Given the description of an element on the screen output the (x, y) to click on. 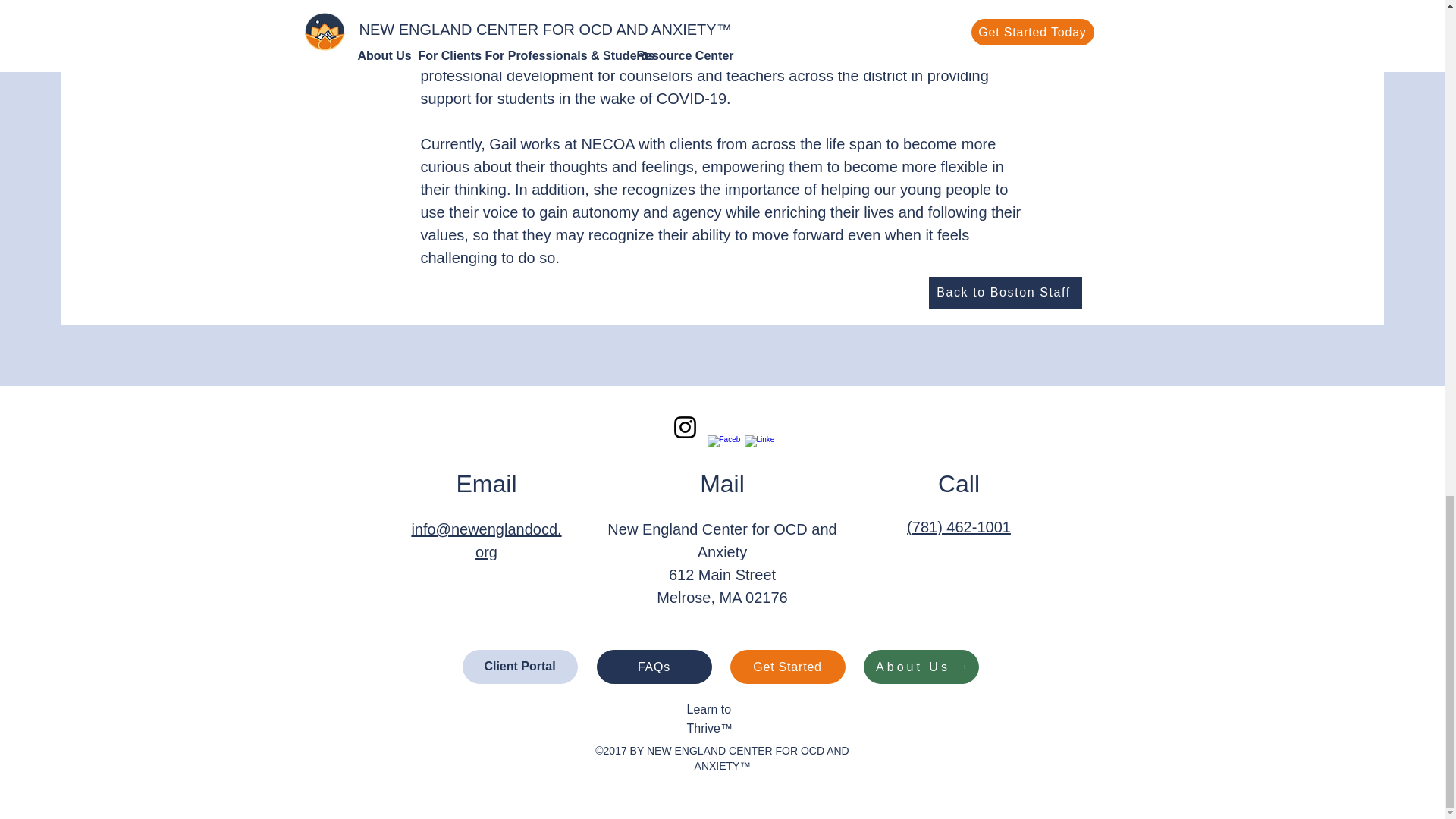
Back to Boston Staff (1004, 292)
Client Portal (520, 666)
FAQs (653, 666)
